Given the description of an element on the screen output the (x, y) to click on. 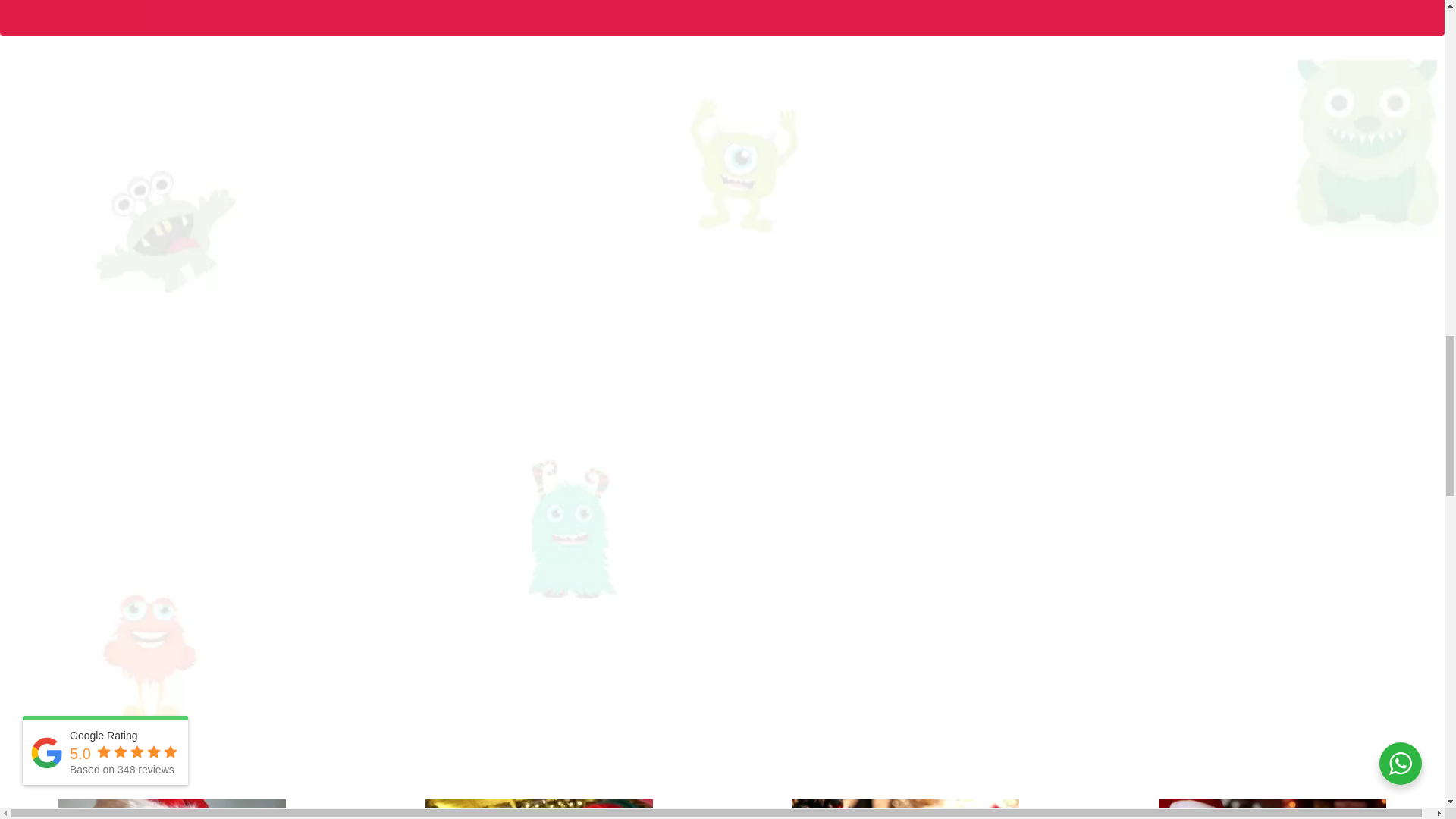
the jingle bell party experience 2 (538, 809)
the jingle bell party experience 3 (905, 809)
the jingle bell party experience 1 (171, 809)
the jingle bell party experience 4 (1272, 809)
